Given the description of an element on the screen output the (x, y) to click on. 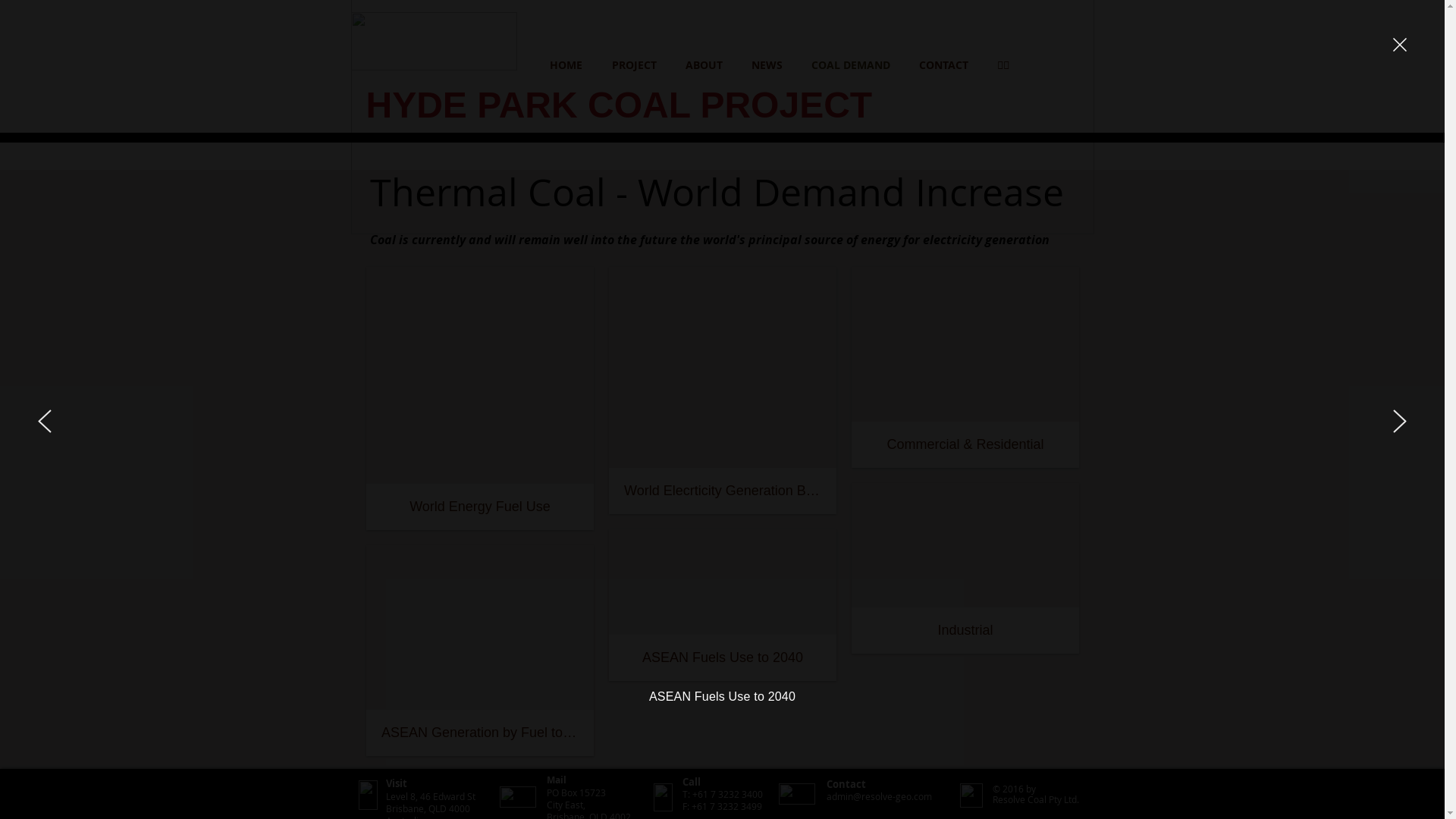
HOME Element type: text (566, 64)
NEWS Element type: text (767, 64)
PROJECT Element type: text (634, 64)
admin@resolve-geo.com Element type: text (878, 796)
COAL DEMAND Element type: text (849, 64)
CONTACT Element type: text (942, 64)
ABOUT Element type: text (703, 64)
HPCP+Logo+Complete.png Element type: hover (433, 41)
